Given the description of an element on the screen output the (x, y) to click on. 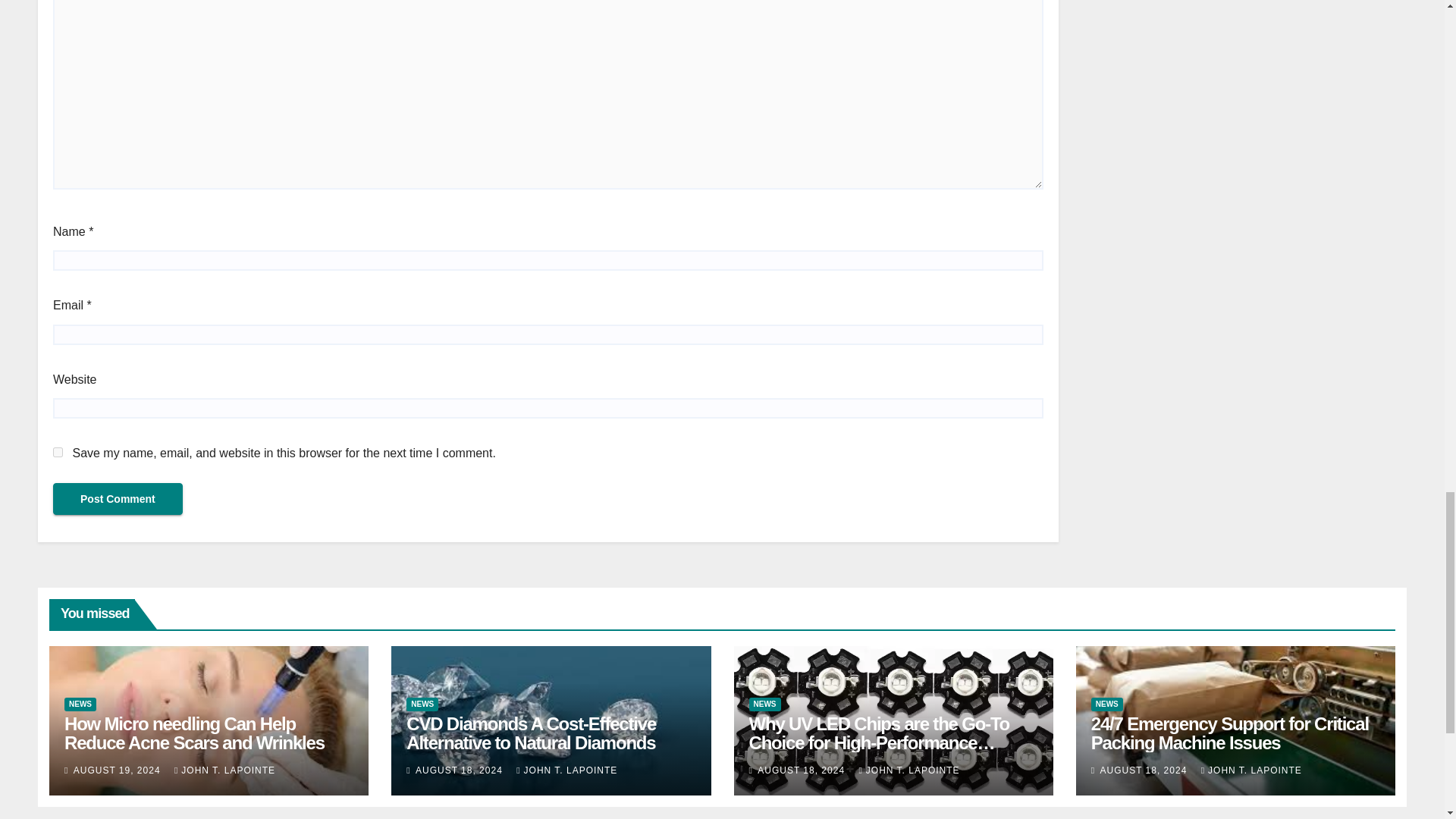
Post Comment (117, 499)
yes (57, 452)
